Given the description of an element on the screen output the (x, y) to click on. 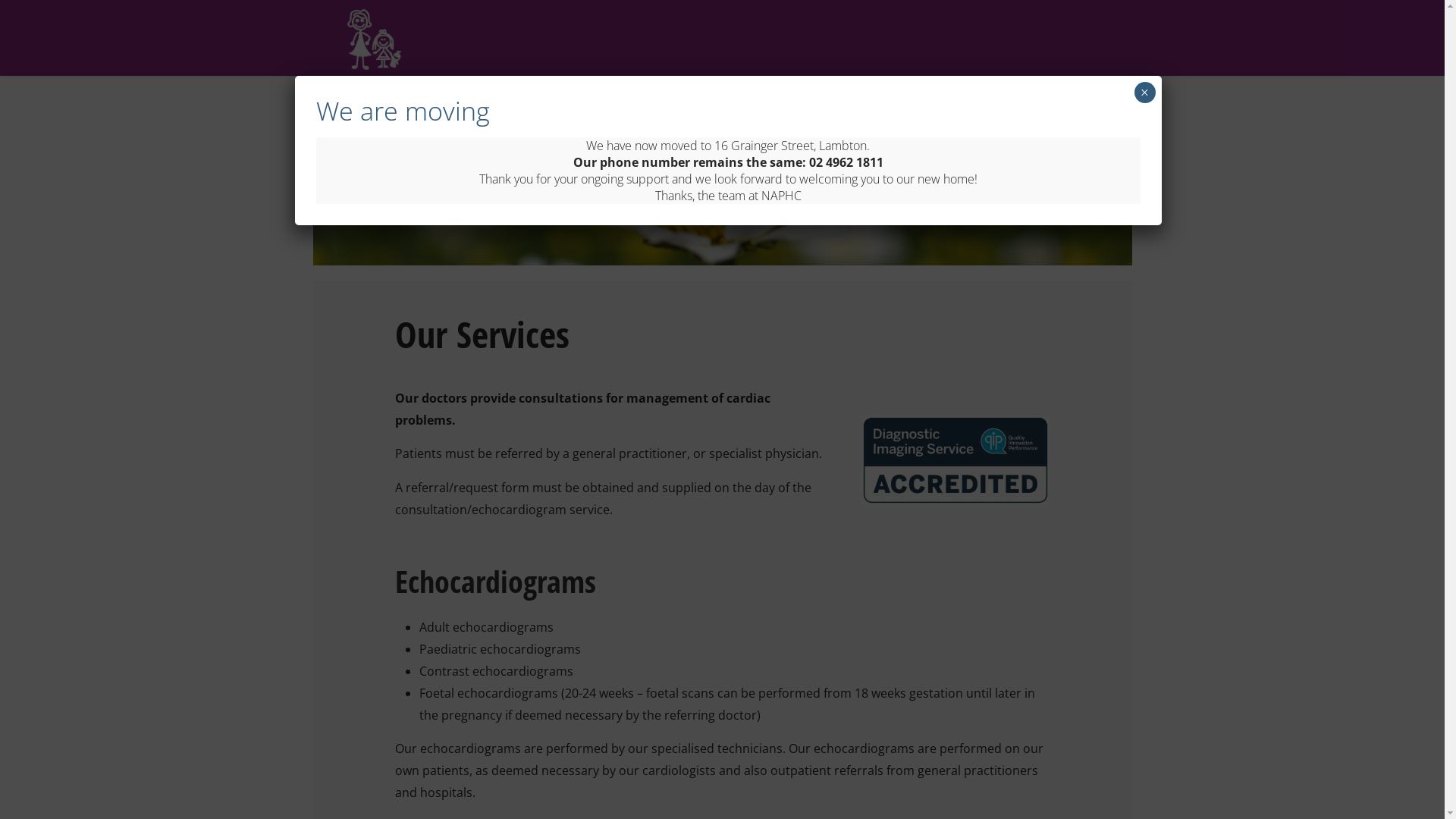
Newcastle Adult & Paediatric Heart Centre Element type: hover (374, 37)
Friendly care for your family Element type: hover (426, 228)
OUR PROFESSIONALS Element type: text (528, 113)
CONTACT US Element type: text (1057, 113)
COVID + FAQ Element type: text (848, 113)
FOR DOCTORS Element type: text (953, 113)
OUR SERVICES Element type: text (655, 113)
OUR FEES Element type: text (754, 113)
HOME Element type: text (421, 113)
